Given the description of an element on the screen output the (x, y) to click on. 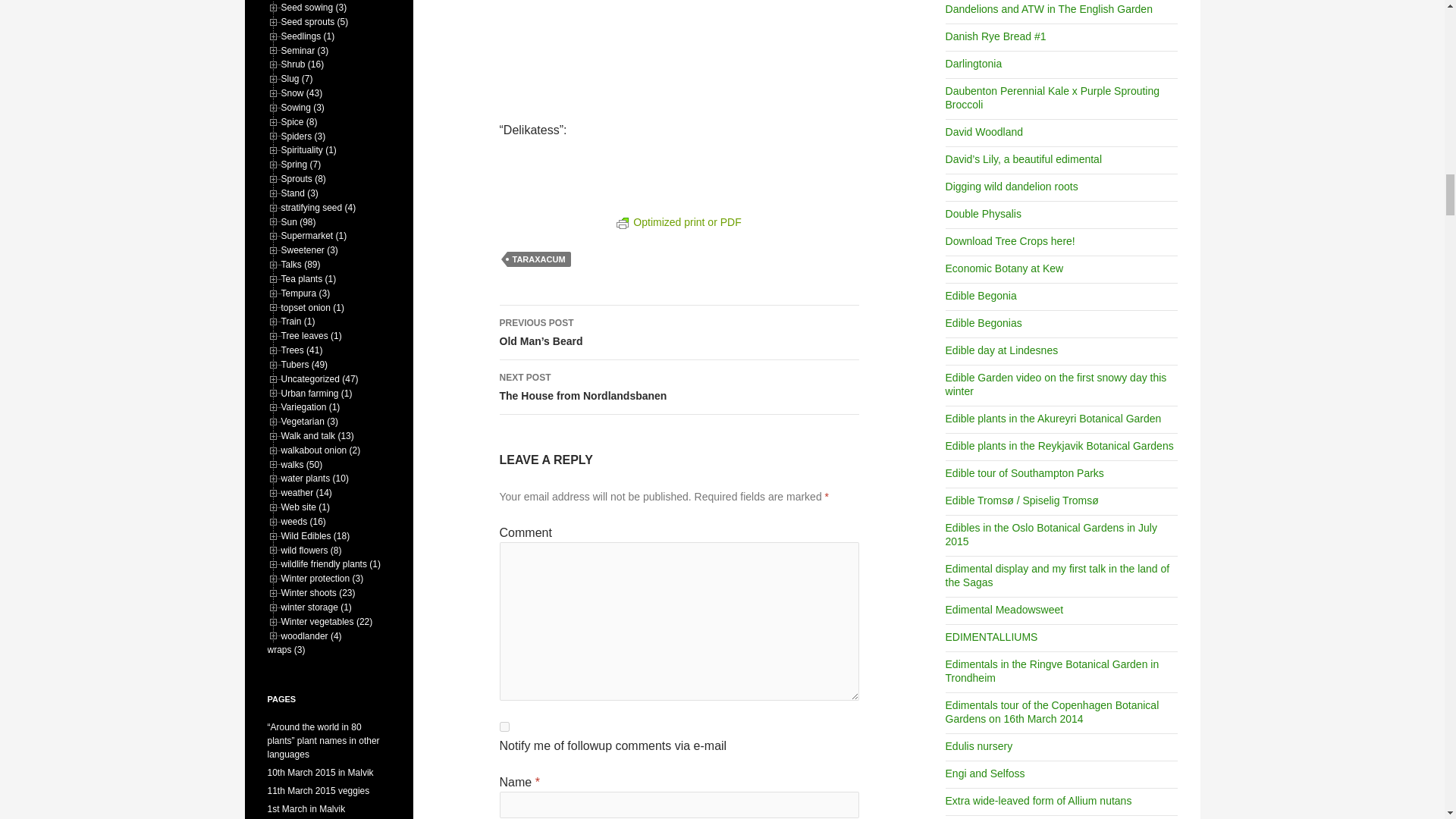
subscribe (504, 726)
